Given the description of an element on the screen output the (x, y) to click on. 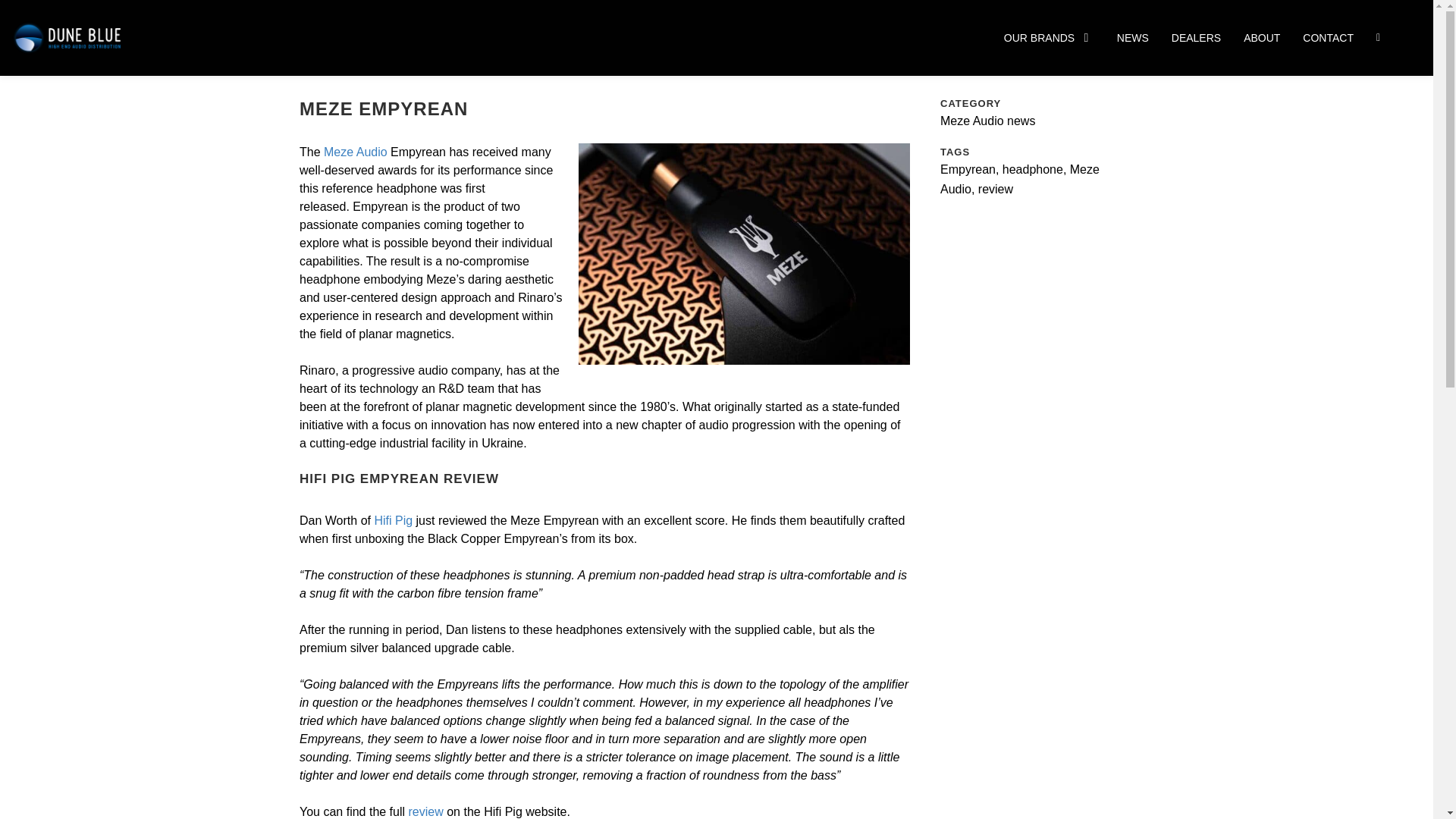
DEALERS (1196, 37)
OUR BRANDS (1049, 37)
CONTACT (1328, 37)
ABOUT (1261, 37)
NEWS (1132, 37)
